Given the description of an element on the screen output the (x, y) to click on. 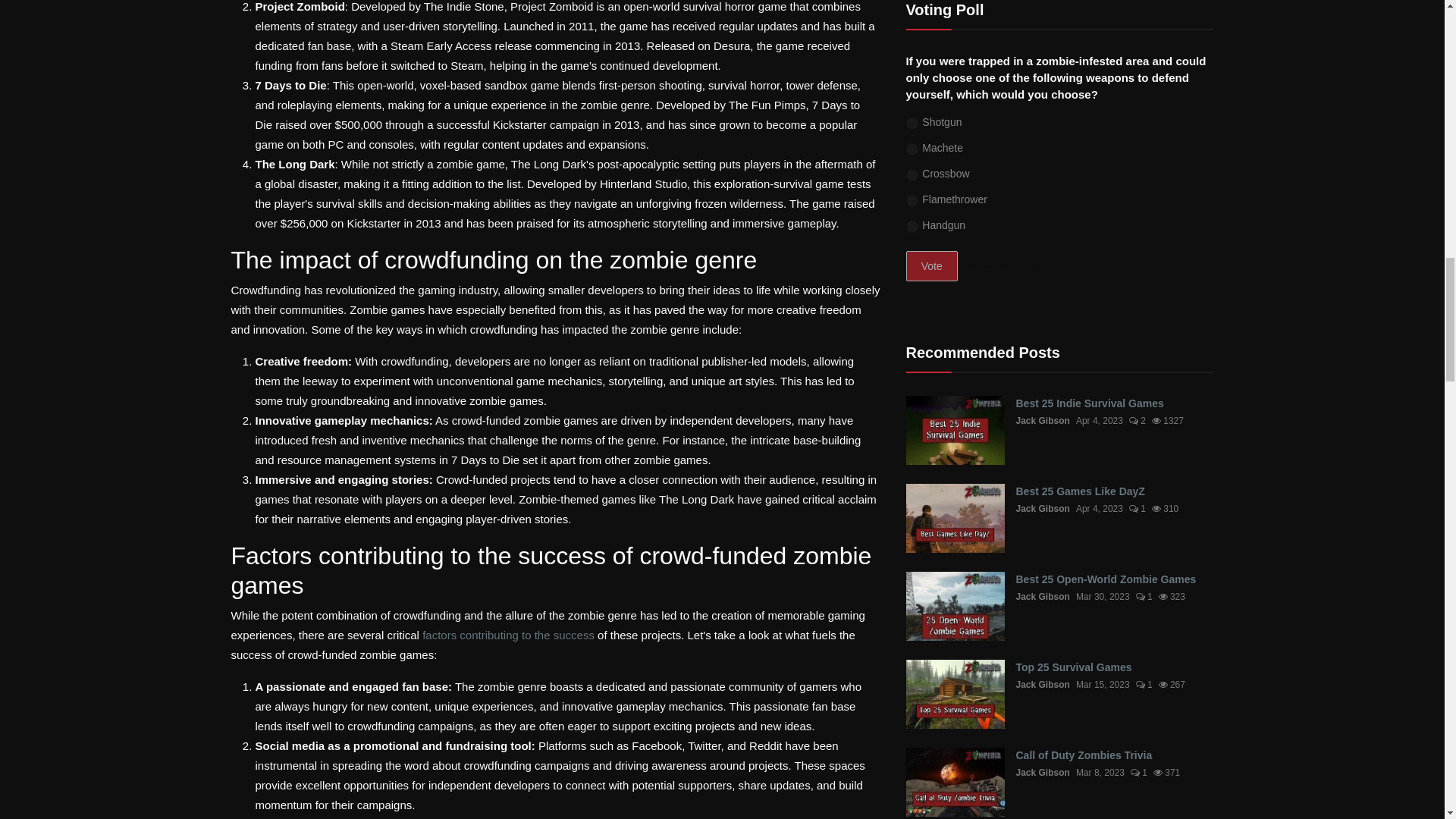
get-funding-for-a-video-game-step-by-step (508, 634)
